Given the description of an element on the screen output the (x, y) to click on. 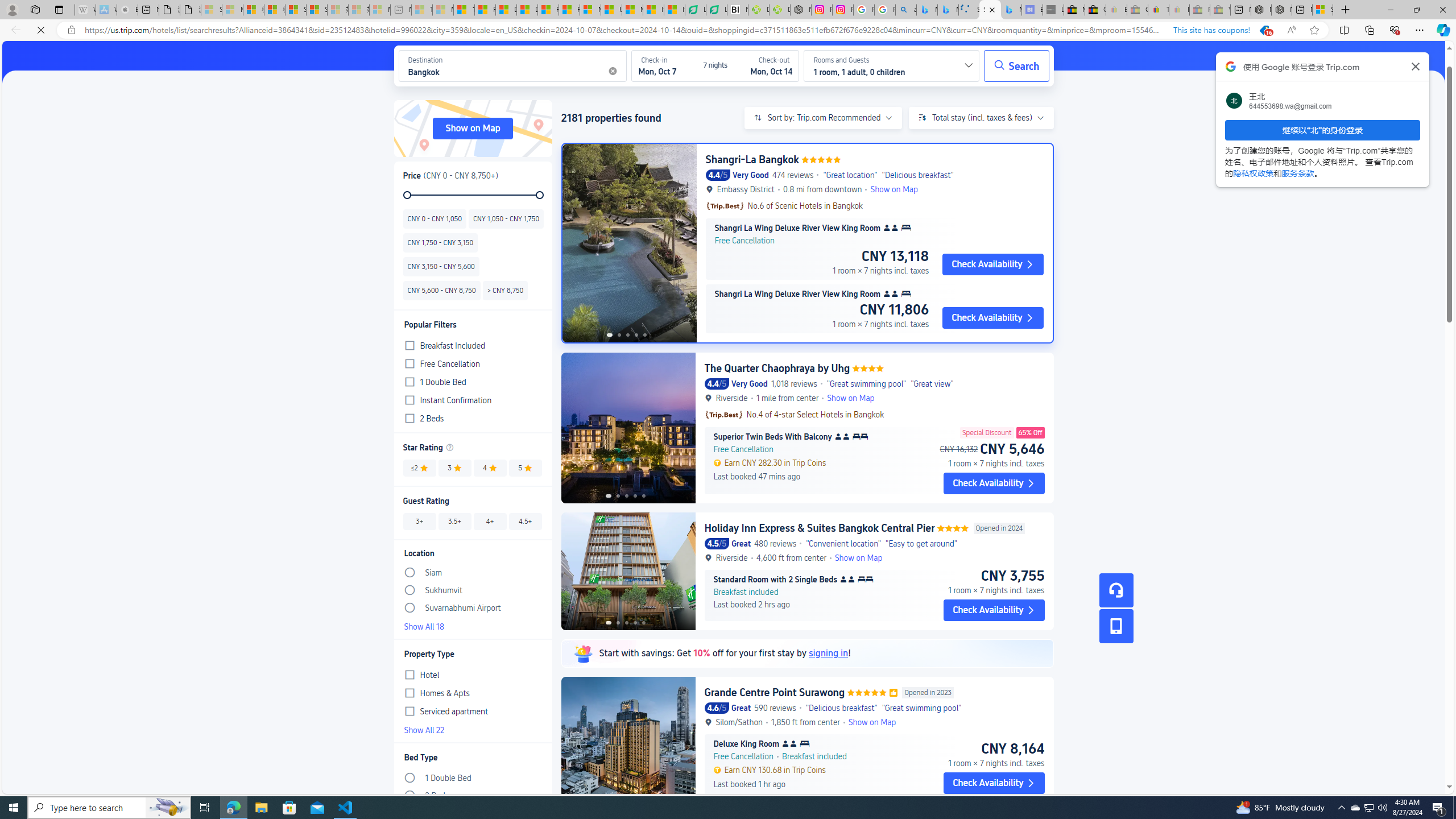
3.5+ (454, 520)
Top Stories - MSN - Sleeping (421, 9)
Nvidia va a poner a prueba la paciencia de los inversores (737, 9)
Destination (424, 65)
